Given the description of an element on the screen output the (x, y) to click on. 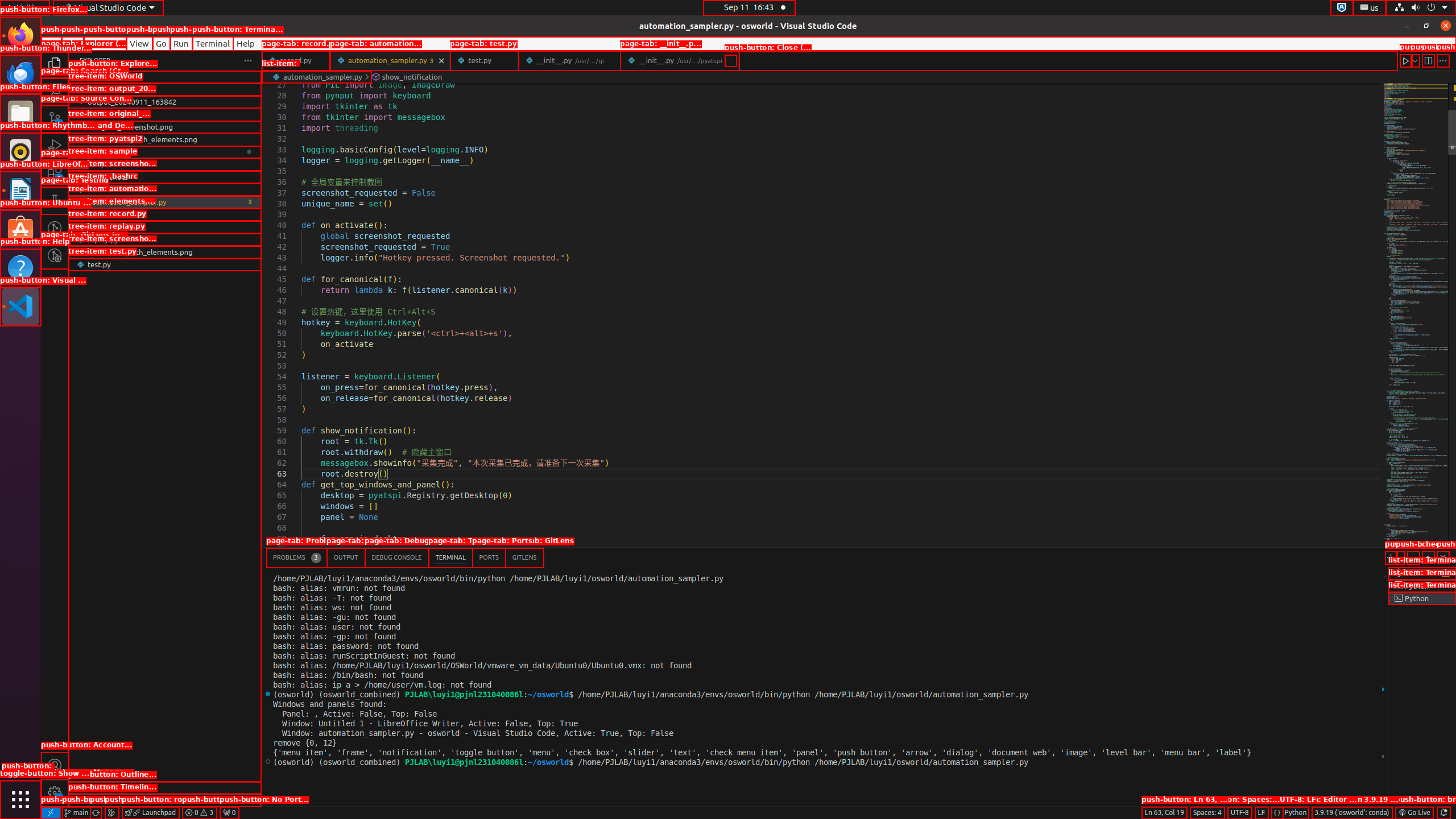
Views and More Actions... Element type: push-button (1413, 557)
screenshots Element type: tree-item (164, 176)
Output (Ctrl+K Ctrl+H) Element type: page-tab (345, 557)
output_20240911_163842 Element type: tree-item (164, 101)
